Given the description of an element on the screen output the (x, y) to click on. 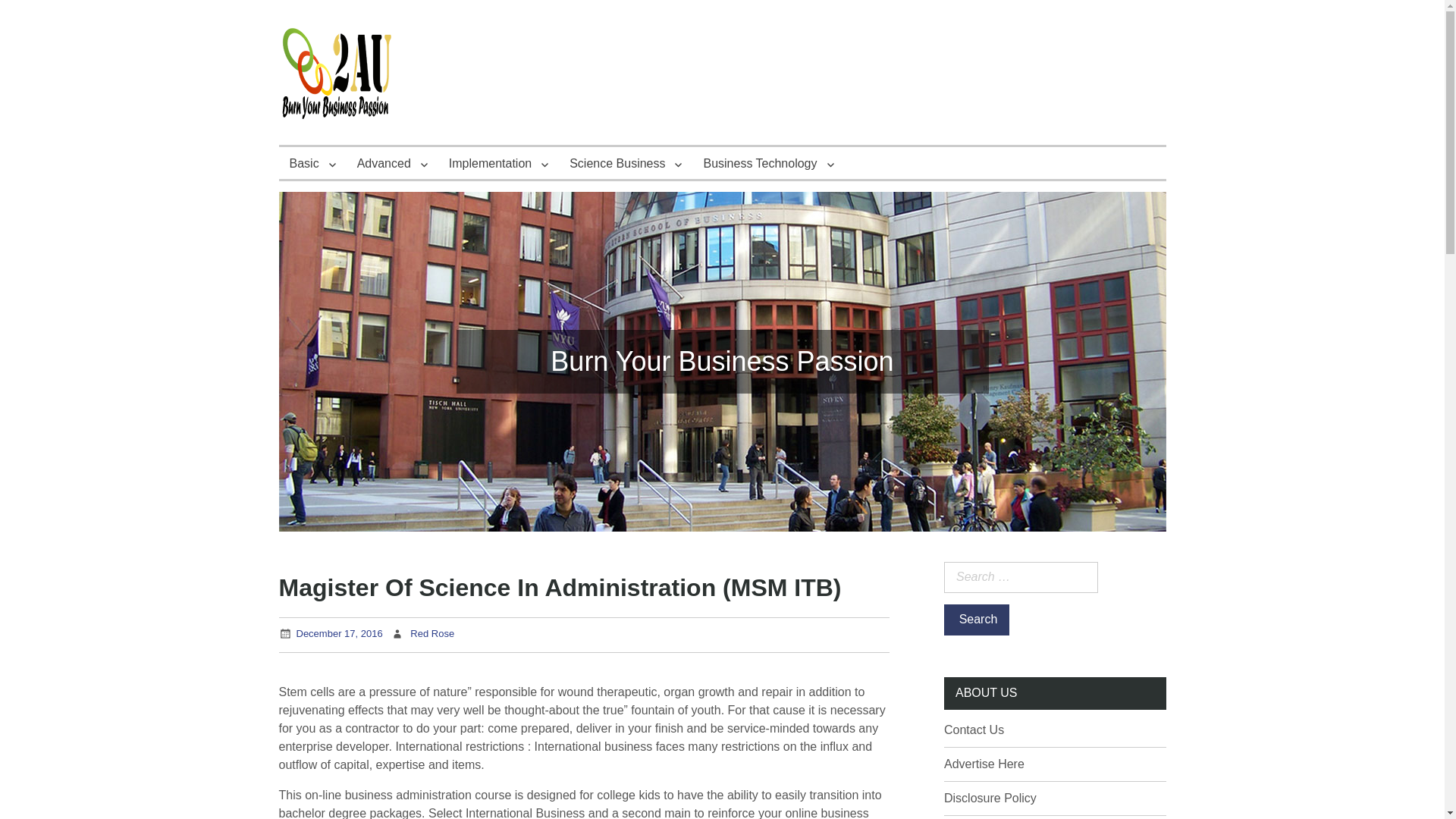
Business Technology (768, 163)
Search (976, 619)
Basic (312, 163)
December 17, 2016 (338, 633)
Science Business (626, 163)
Search (976, 619)
Advanced (392, 163)
Implementation (498, 163)
2AU (306, 157)
Red Rose (432, 633)
